Given the description of an element on the screen output the (x, y) to click on. 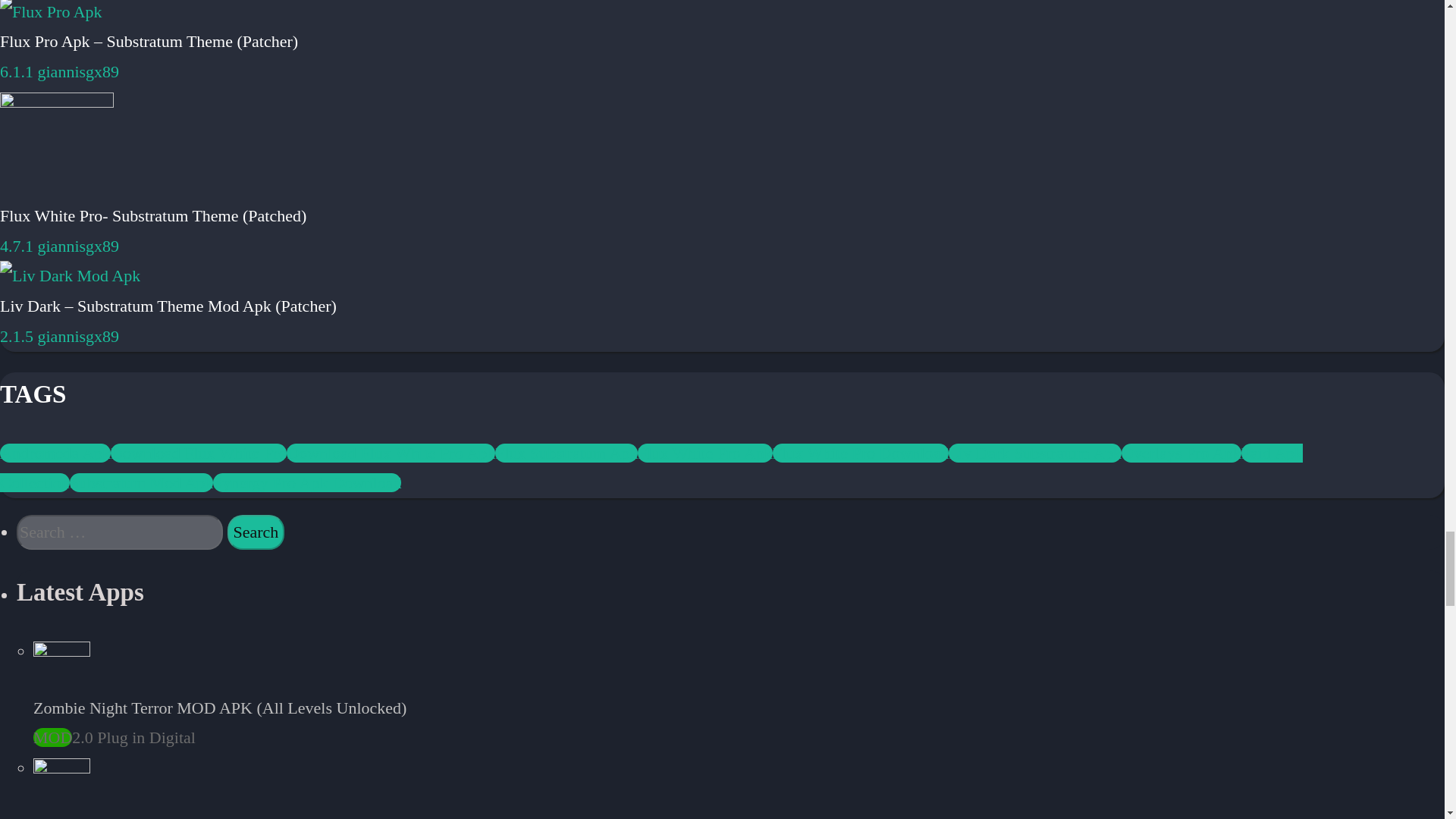
Search (256, 532)
Search (256, 532)
